Given the description of an element on the screen output the (x, y) to click on. 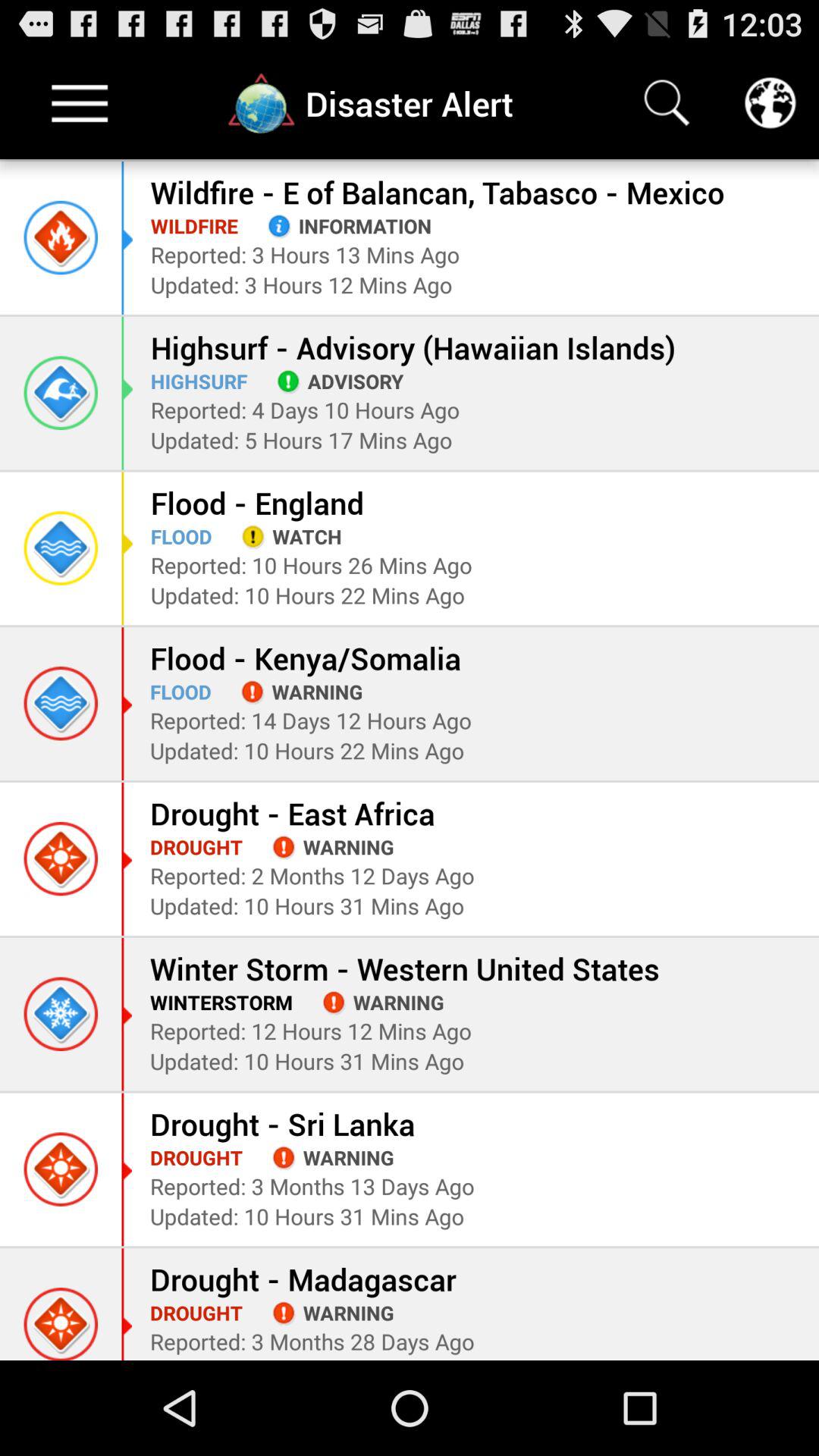
open the icon above wildfire e of (666, 102)
